Given the description of an element on the screen output the (x, y) to click on. 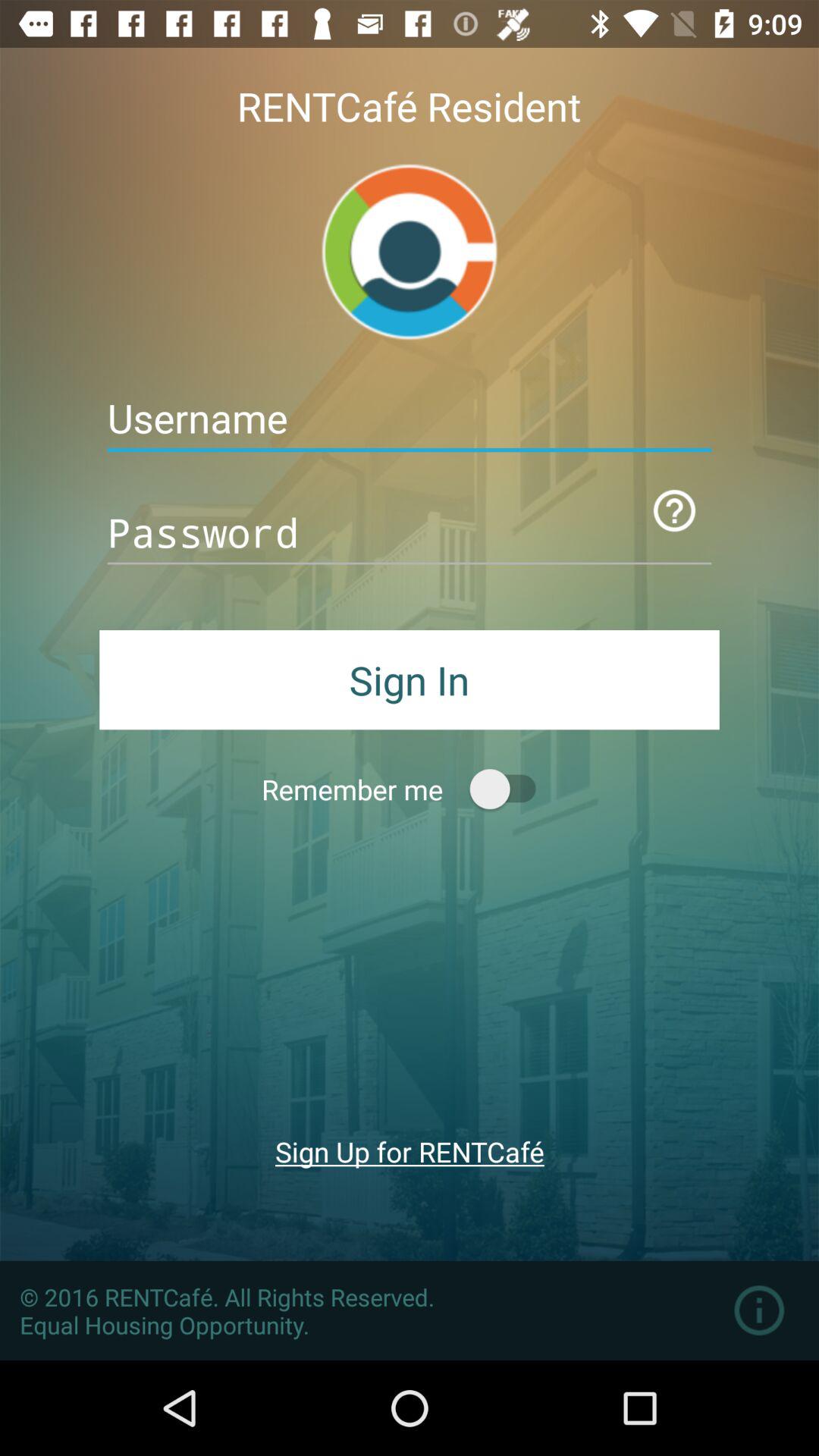
show info (759, 1310)
